Given the description of an element on the screen output the (x, y) to click on. 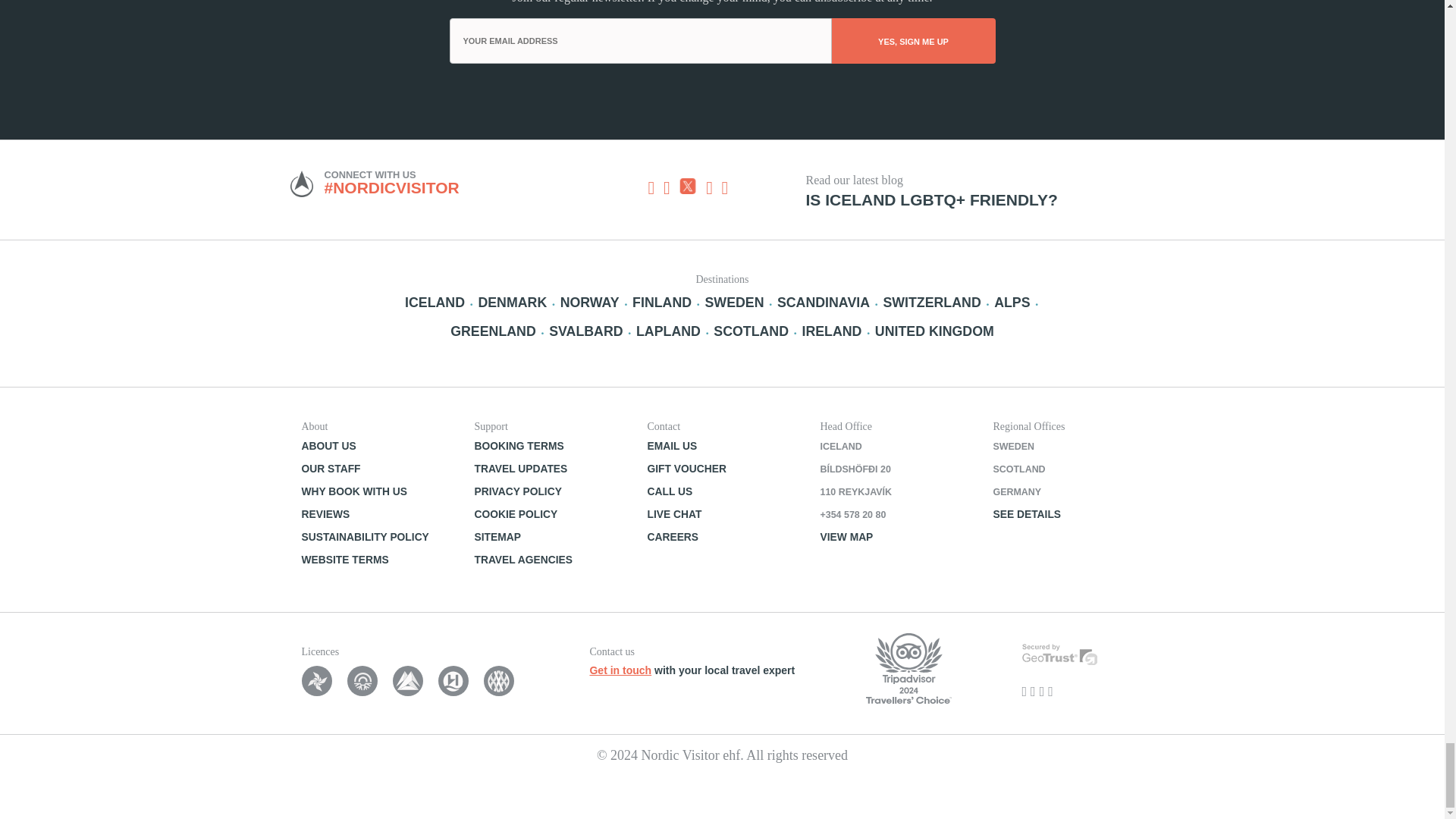
Vakinn - Quality System (316, 680)
Icelandic Tourist Board (362, 680)
The Scottish Tourism Alliance (498, 680)
Norway Hurtigruten cruises (453, 680)
Icelandic Travel Industry Association (408, 680)
Yes, sign me up (912, 40)
